Given the description of an element on the screen output the (x, y) to click on. 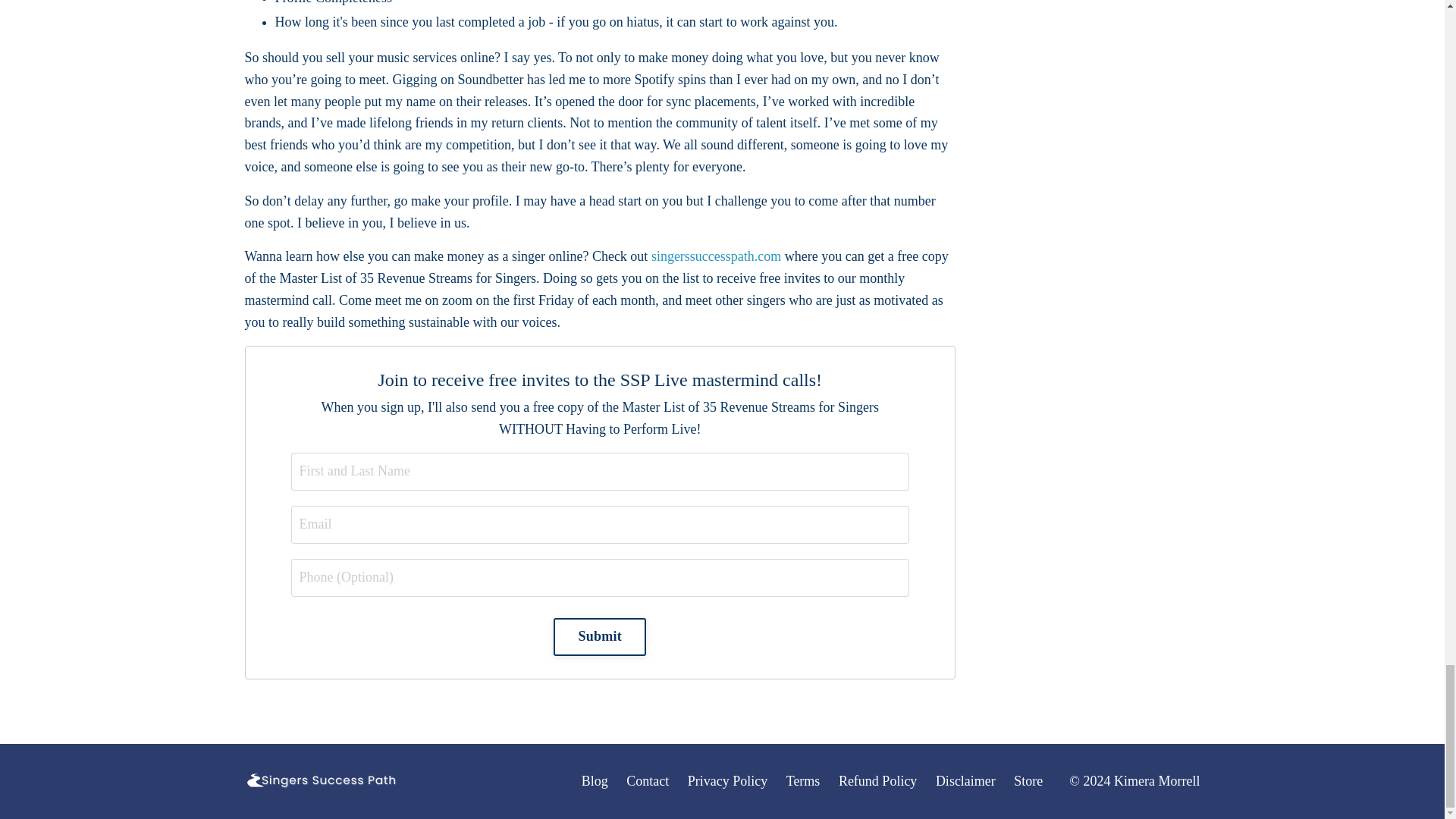
singerssuccesspath.com (715, 255)
Contact (647, 780)
Disclaimer (965, 780)
Store (1027, 780)
Blog (594, 780)
Submit (599, 637)
Refund Policy (877, 780)
Privacy Policy (727, 780)
Terms (803, 780)
Submit (599, 637)
